Given the description of an element on the screen output the (x, y) to click on. 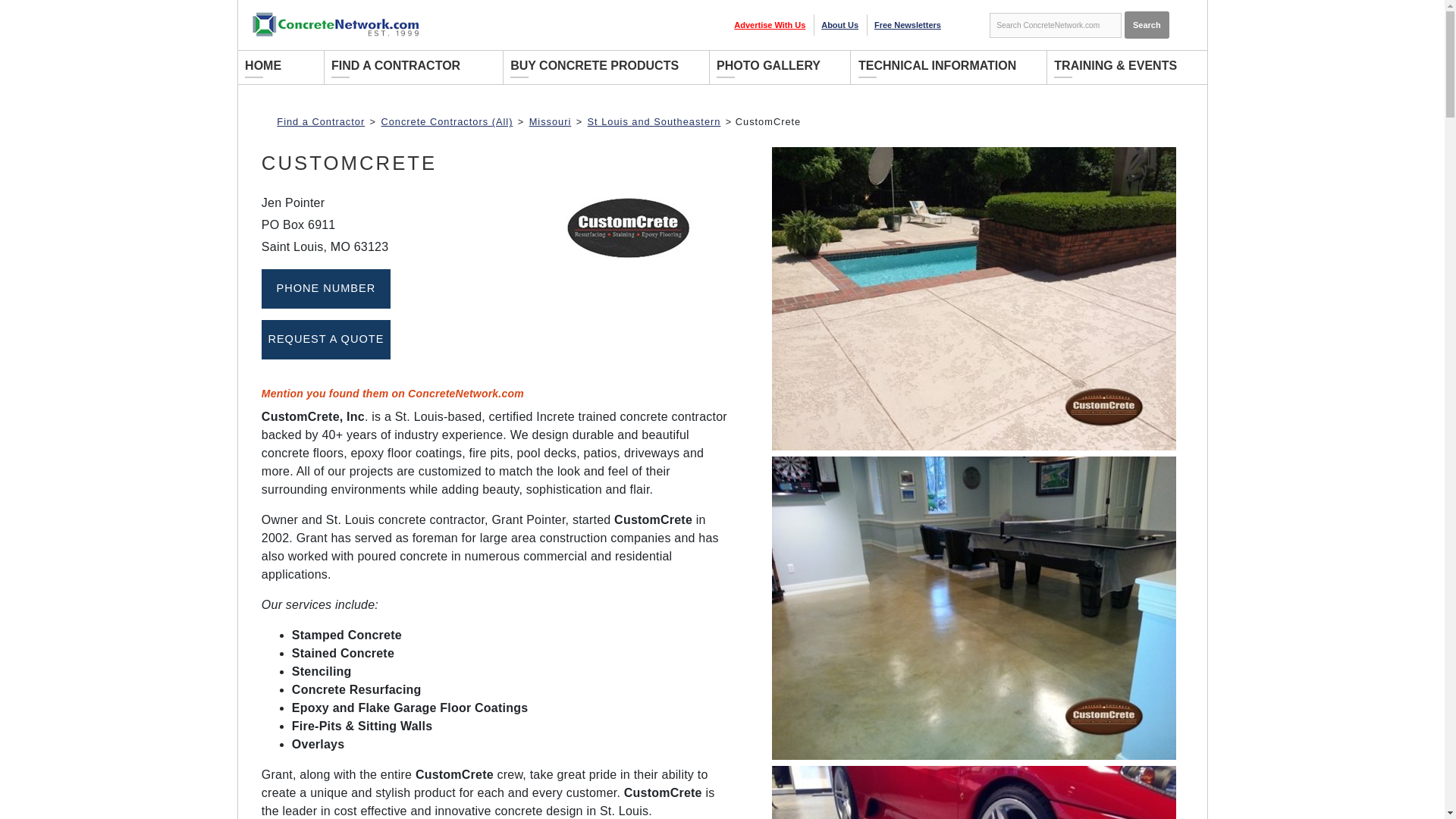
Search (1146, 24)
FIND A CONTRACTOR (407, 67)
Phone Number (326, 288)
Free Newsletters (907, 24)
Search ConcreteNetwork.com (1055, 25)
Request A Quote (326, 339)
Search ConcreteNetwork.com (1055, 25)
Search (1146, 24)
Advertise With Us (769, 24)
HOME (274, 67)
